Given the description of an element on the screen output the (x, y) to click on. 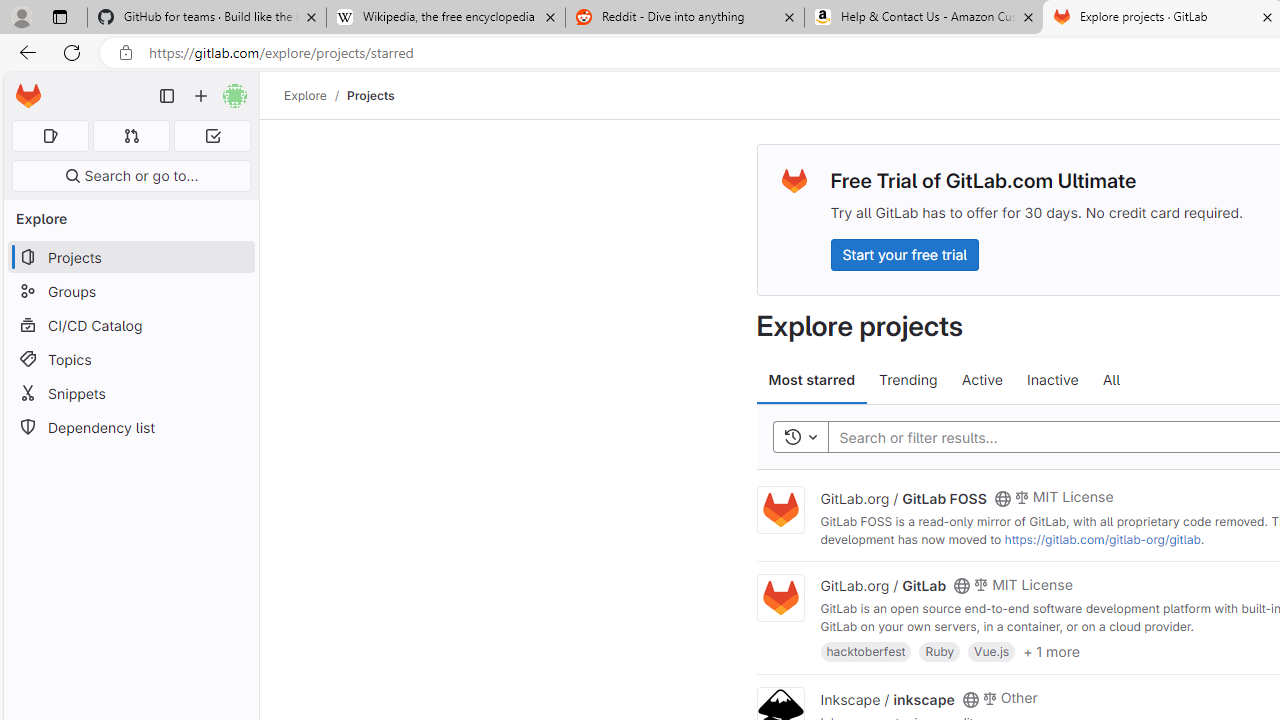
Merge requests 0 (131, 136)
Topics (130, 358)
hacktoberfest (866, 650)
Primary navigation sidebar (167, 96)
Dependency list (130, 427)
Skip to main content (23, 87)
Inactive (1052, 379)
Assigned issues 0 (50, 136)
All (1111, 379)
GitLab.org / GitLab FOSS (903, 497)
Snippets (130, 393)
Ruby (940, 650)
Most starred (811, 379)
Start your free trial (904, 254)
